Given the description of an element on the screen output the (x, y) to click on. 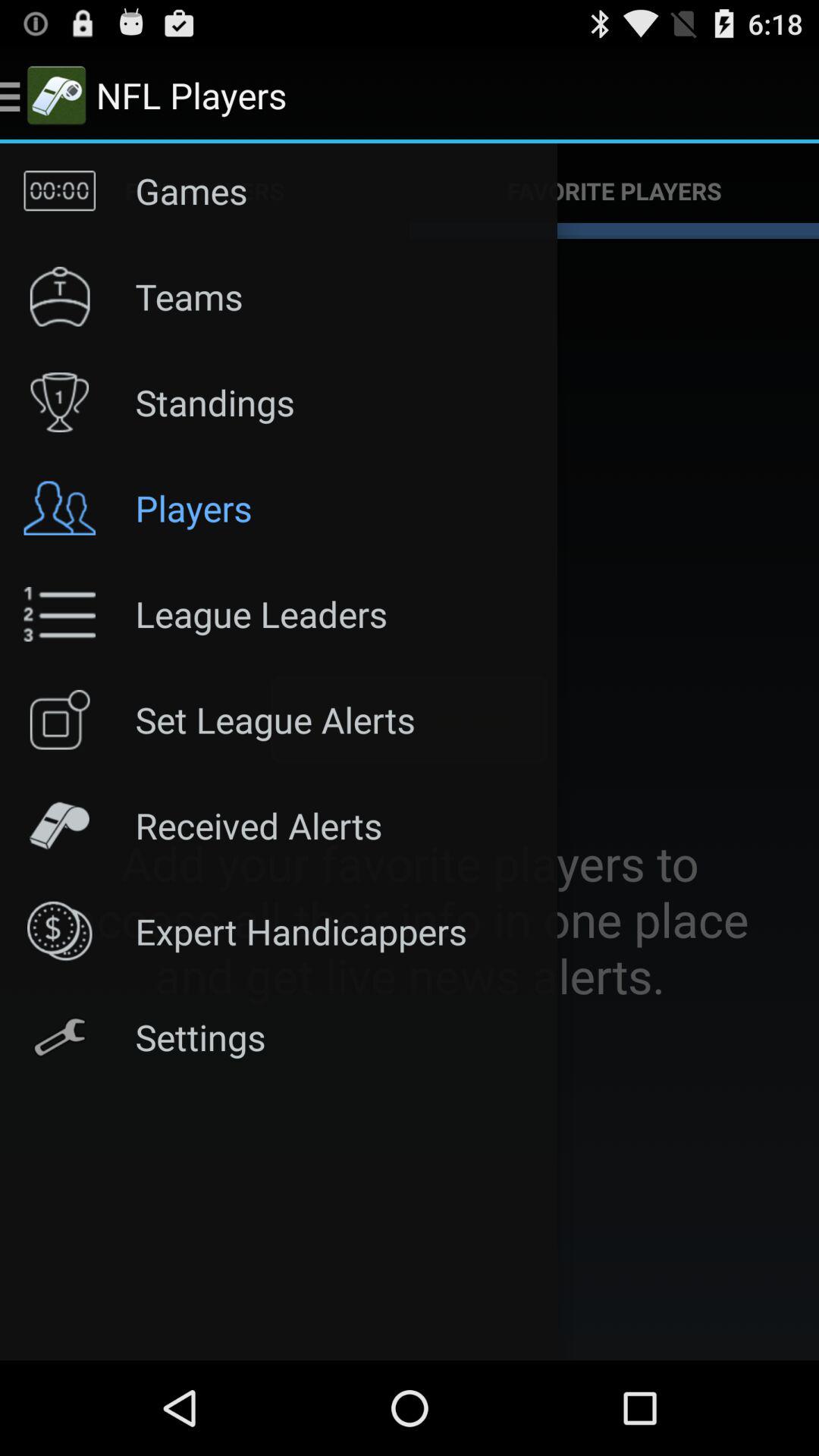
select the icon beside the text players (59, 508)
click on the icon left to the set league alerts (59, 719)
